Given the description of an element on the screen output the (x, y) to click on. 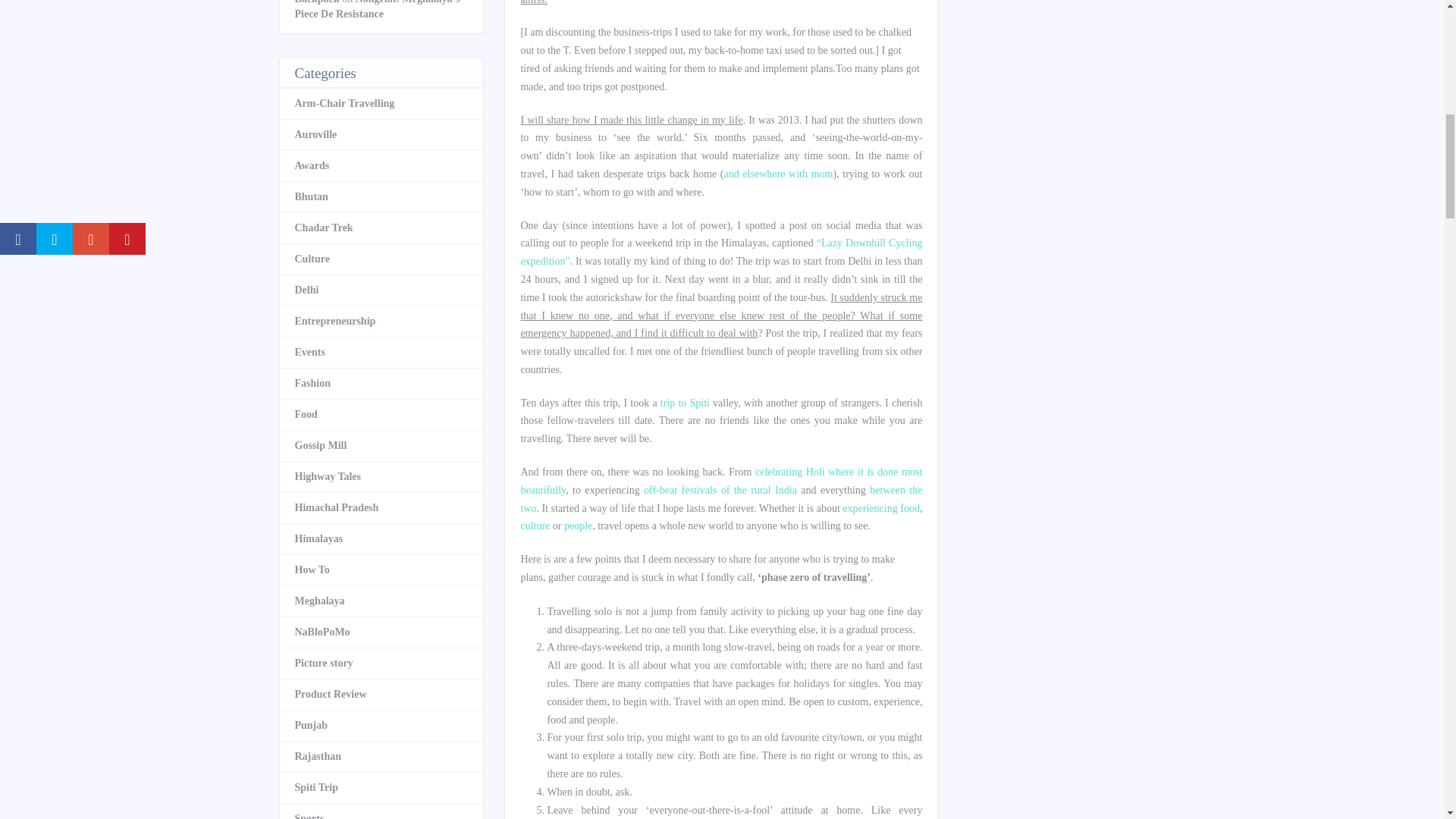
Chhattisgarh: A Place That Gave Me A New Insight To Life (534, 525)
experiencing food (881, 508)
trip to Spiti (685, 402)
culture (534, 525)
between the two (720, 499)
celebrating Holi where it is done most beautifully (720, 481)
Chitrashala: A Museum In The Clouds (578, 525)
off-beat festivals of the rural India (719, 490)
Highway Story-3 (720, 499)
Varanasi, Off-Sighted? (777, 173)
My Holy Holi At Nandgaon And Barsana (720, 481)
and elsewhere with mom (777, 173)
Kila Raipur Sports Festival 2014 (719, 490)
people (578, 525)
